Given the description of an element on the screen output the (x, y) to click on. 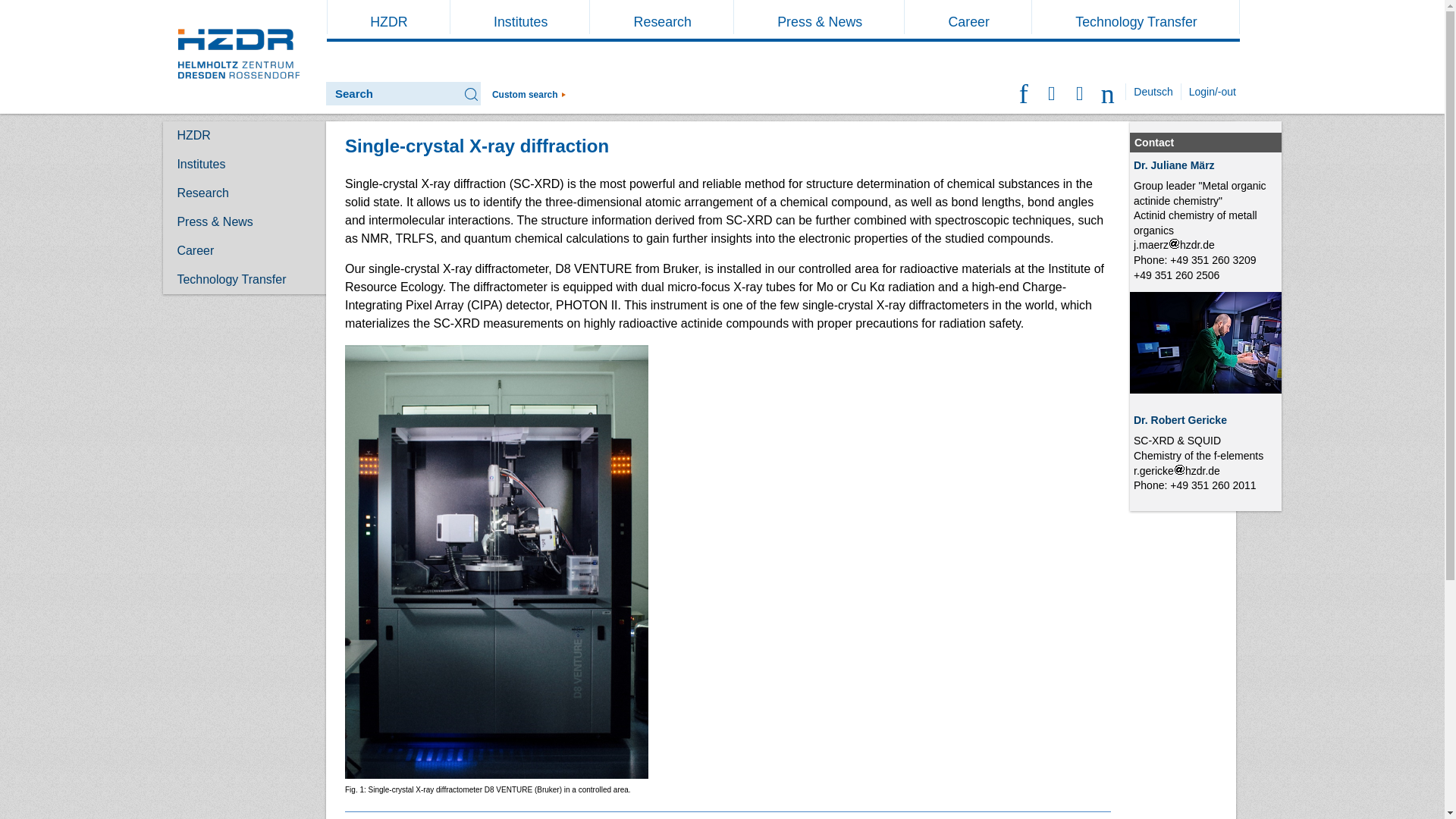
YouTube (1108, 91)
LinkedIn (1080, 91)
Research (661, 20)
Twitter (1024, 91)
FWOF-M (1195, 222)
Search for webpages, files, contacts and publications (529, 94)
Mastodon (1052, 91)
Institutes (520, 20)
Department FWOF (1198, 455)
Deutsch (1152, 91)
Dr. Gericke, Robert; FWOF (1205, 342)
Helmholtz-Zentrum Dresden Rossendorf (238, 58)
HZDR (387, 20)
